Given the description of an element on the screen output the (x, y) to click on. 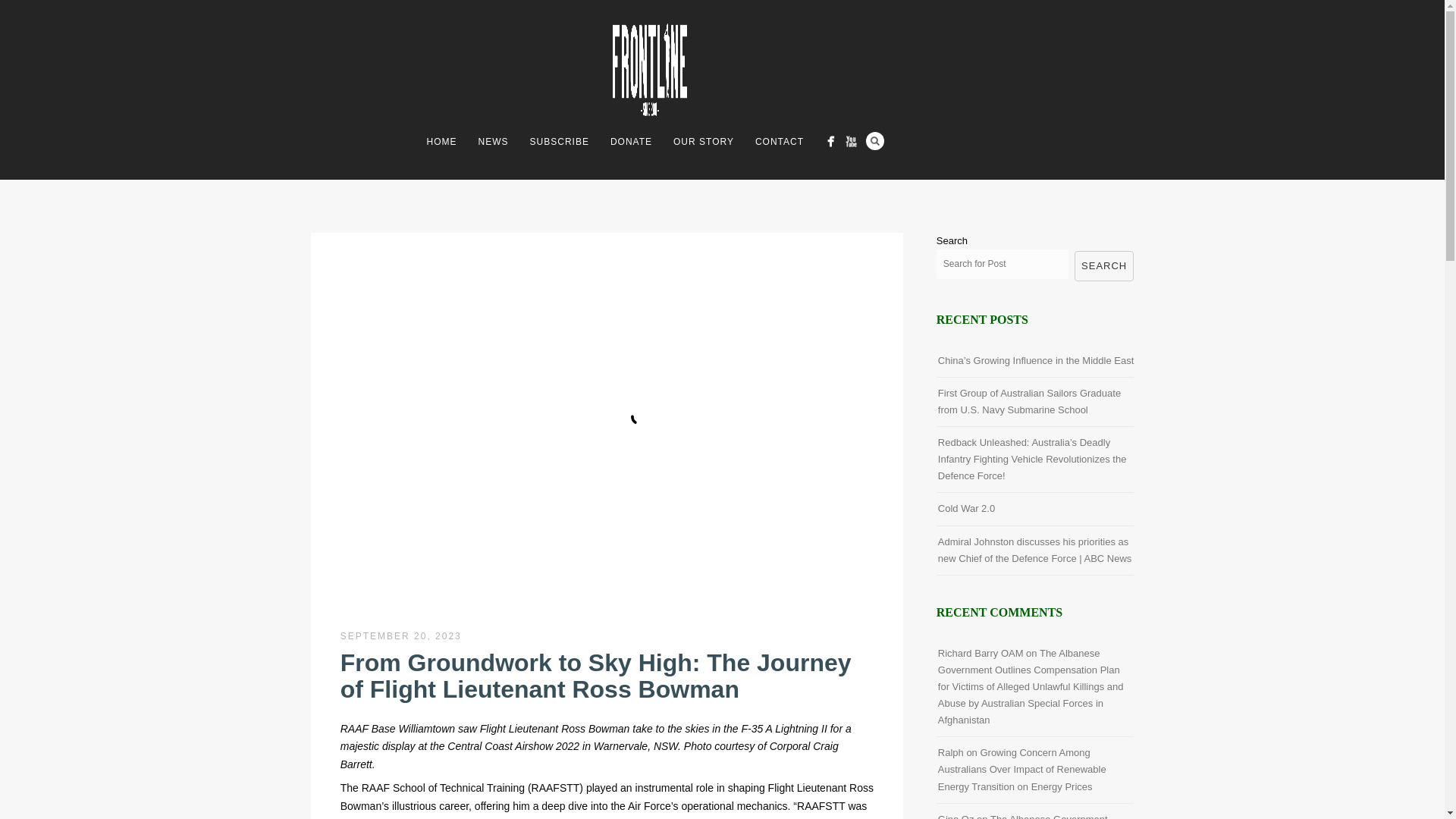
HOME (441, 141)
SUBSCRIBE (559, 141)
Cold War 2.0 (965, 507)
DONATE (630, 141)
Search (874, 140)
NEWS (493, 141)
Veteranweb Youtube (850, 140)
SEARCH (1104, 265)
CONTACT (778, 141)
OUR STORY (703, 141)
